Given the description of an element on the screen output the (x, y) to click on. 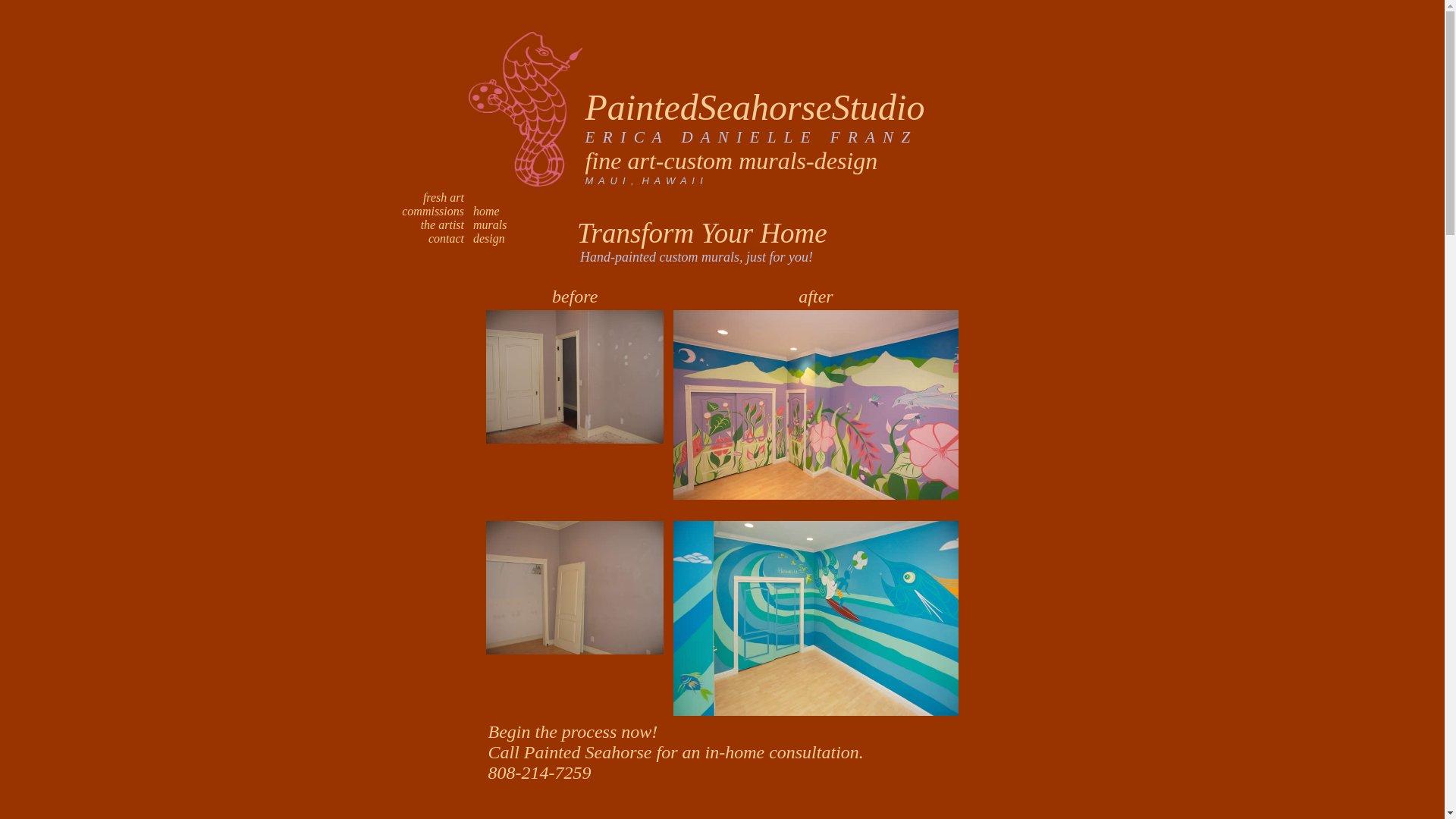
contact (446, 237)
the artist (442, 224)
commissions (432, 210)
  murals (486, 224)
  home (483, 210)
fresh art (443, 196)
  design (486, 237)
